Given the description of an element on the screen output the (x, y) to click on. 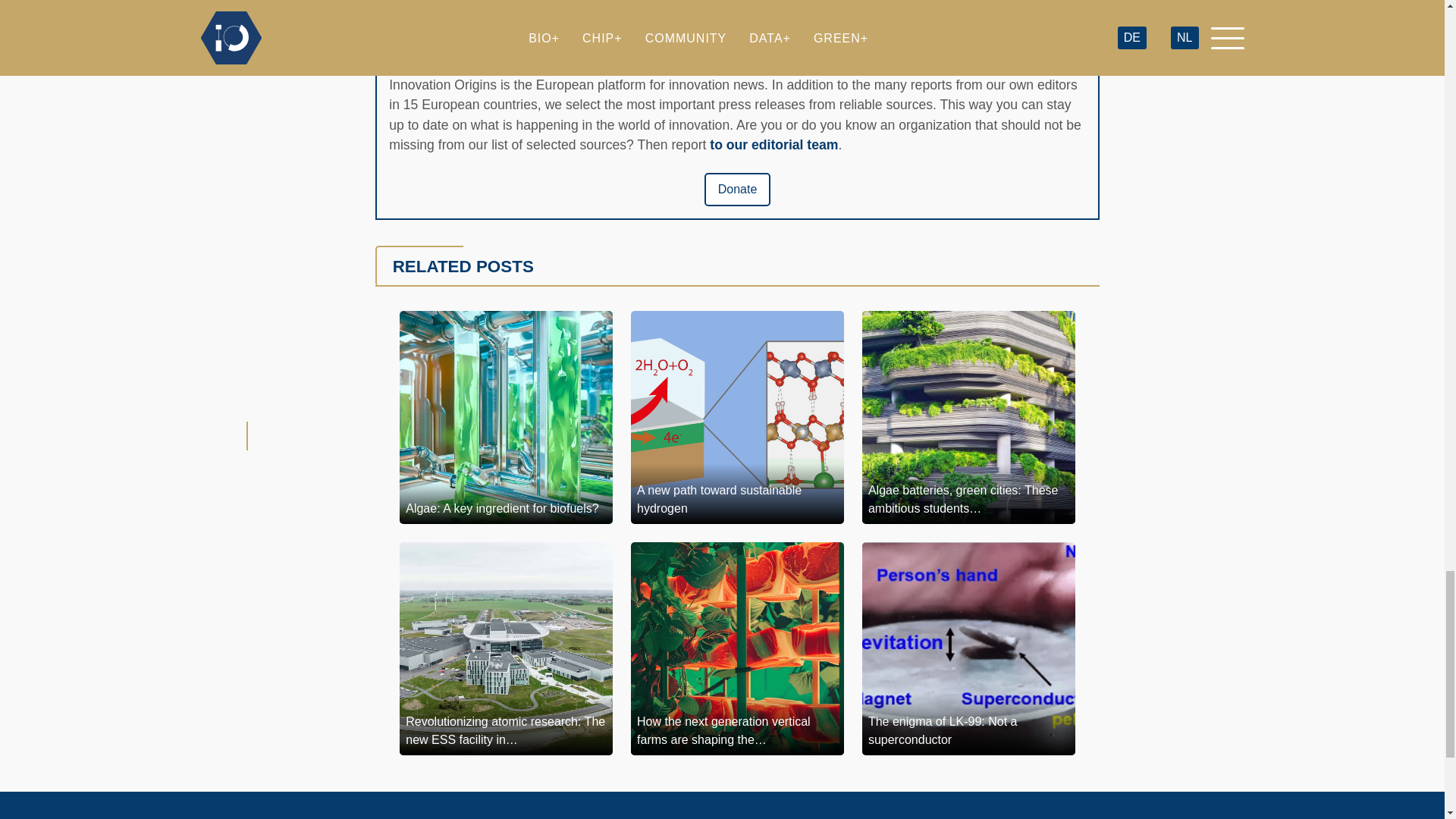
A new path toward sustainable hydrogen (737, 417)
Algae: A key ingredient for biofuels? (505, 417)
